Given the description of an element on the screen output the (x, y) to click on. 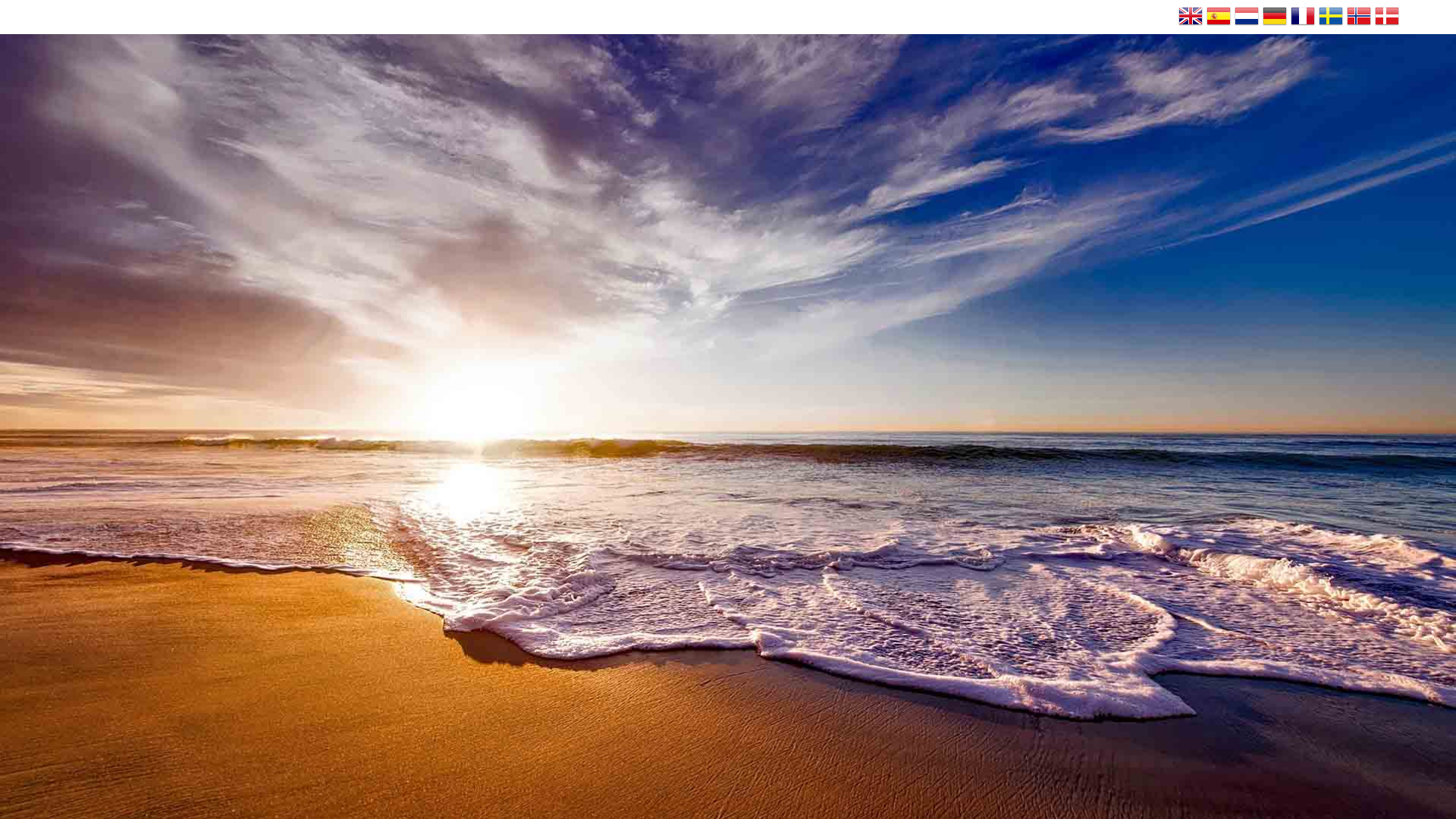
Norwegian (1358, 17)
English (1189, 17)
German (1274, 17)
Spanish (1218, 17)
Swedish (1330, 17)
French (1302, 17)
Dutch (1246, 17)
Danish (1386, 17)
